Given the description of an element on the screen output the (x, y) to click on. 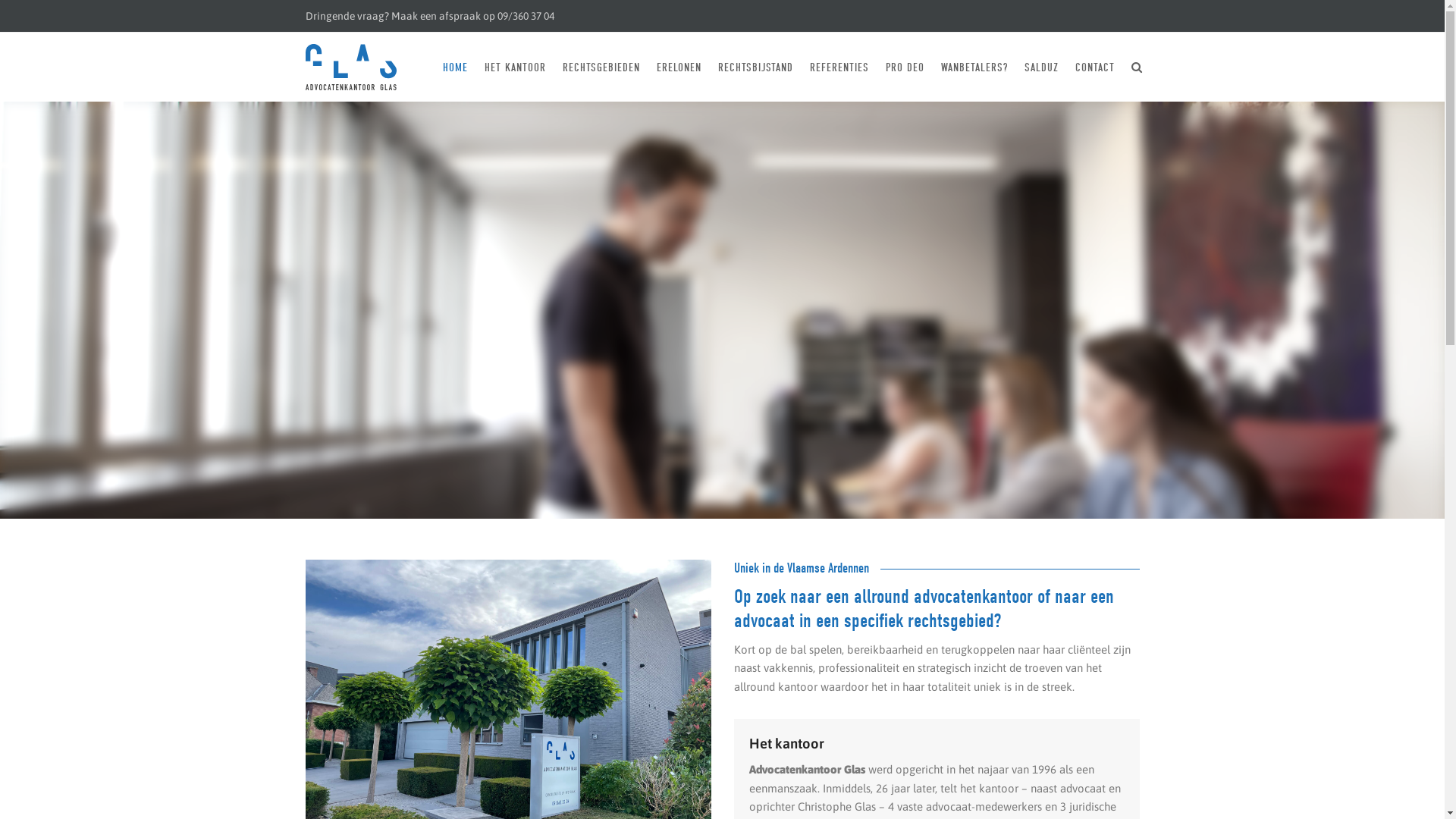
Het kantoor Element type: text (786, 743)
HOME Element type: text (454, 67)
RECHTSGEBIEDEN Element type: text (600, 67)
HET KANTOOR Element type: text (515, 67)
SALDUZ Element type: text (1041, 67)
ERELONEN Element type: text (678, 67)
WANBETALERS? Element type: text (974, 67)
CONTACT Element type: text (1094, 67)
REFERENTIES Element type: text (838, 67)
RECHTSBIJSTAND Element type: text (755, 67)
PRO DEO Element type: text (903, 67)
